Given the description of an element on the screen output the (x, y) to click on. 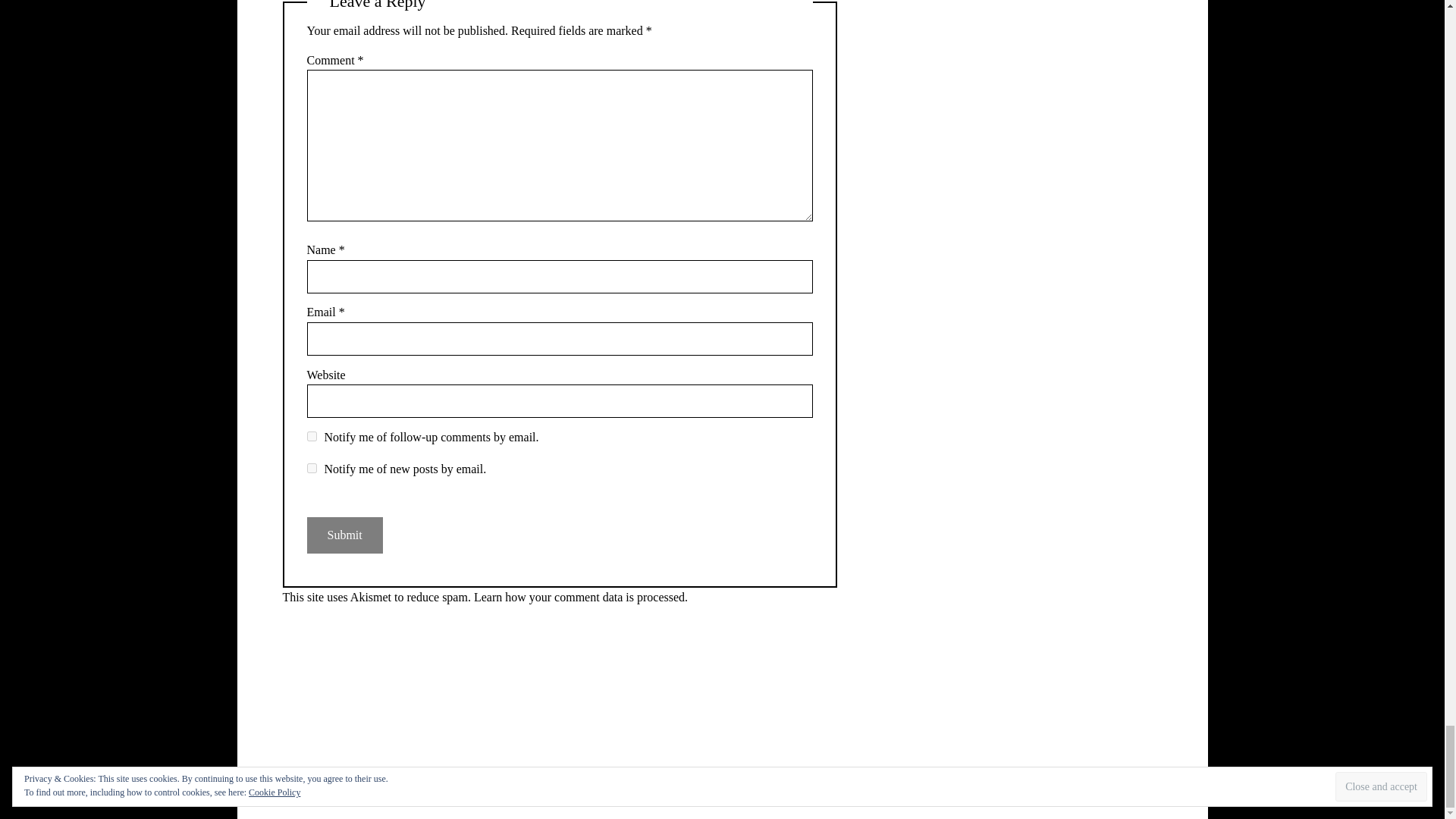
subscribe (310, 468)
subscribe (310, 436)
Submit (343, 534)
